Given the description of an element on the screen output the (x, y) to click on. 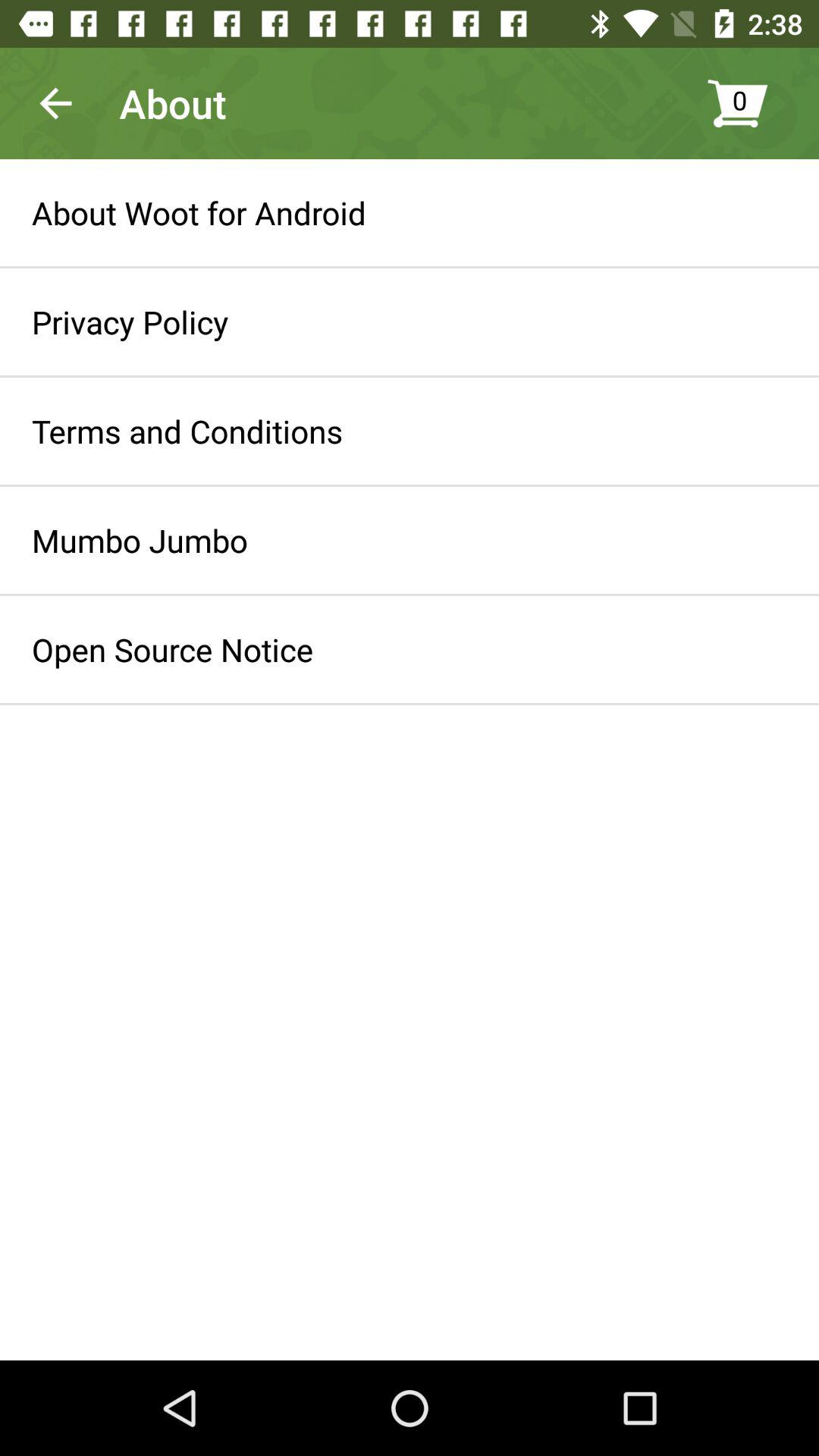
jump until the terms and conditions item (186, 430)
